Given the description of an element on the screen output the (x, y) to click on. 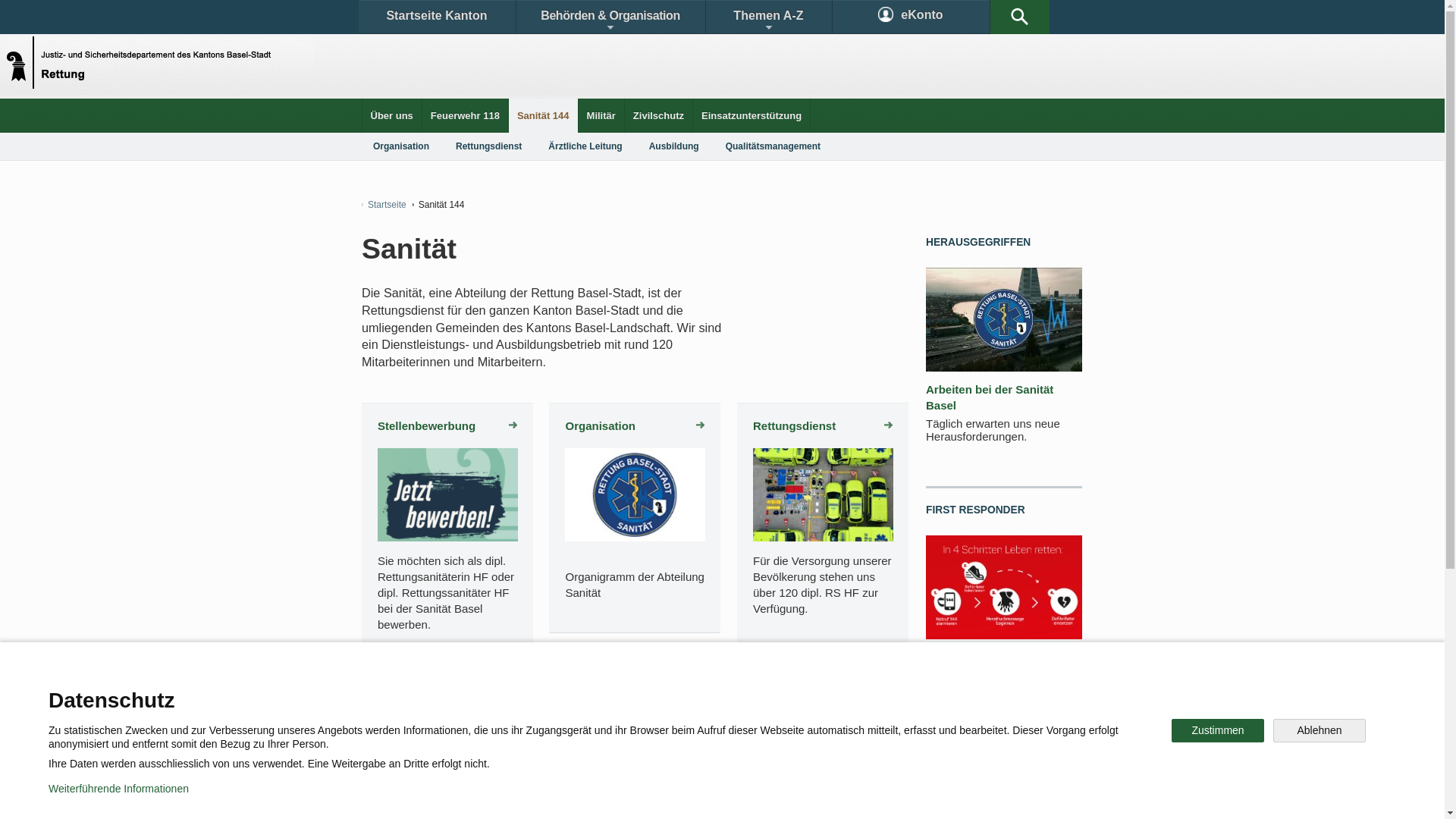
Twitter Element type: text (642, 746)
Feuerwehr 118 Element type: text (465, 115)
Stadtplan & Karte Element type: text (504, 693)
Ausbildung Element type: text (634, 687)
Facebook Element type: text (547, 746)
Organisation Element type: text (400, 145)
Bild & Multimedia Element type: text (908, 693)
Ausbildung Element type: text (673, 145)
Rettungsdienst Element type: text (488, 145)
Ablehnen Element type: text (1319, 730)
Stellenbewerbung Element type: text (447, 425)
Startseite Kanton Element type: text (435, 17)
Statistiken Element type: text (687, 693)
Themen A-Z Element type: text (768, 17)
Gesetze Element type: text (597, 693)
LinkedIn Element type: text (839, 746)
Zivilschutz Element type: text (658, 115)
Instagram Element type: text (738, 746)
Rettungsdienst Element type: text (822, 425)
Erste Hilfe - Leben retten Element type: text (992, 656)
Zur mobilen Ansicht Element type: text (752, 796)
Kontakt Element type: text (406, 693)
Impressum Element type: text (648, 796)
Nutzungsregelungen Element type: text (542, 796)
Organisation Element type: text (634, 425)
Startseite Element type: text (383, 204)
Publikationen Element type: text (795, 693)
Zustimmen Element type: text (1217, 730)
eKonto Element type: text (910, 17)
